Given the description of an element on the screen output the (x, y) to click on. 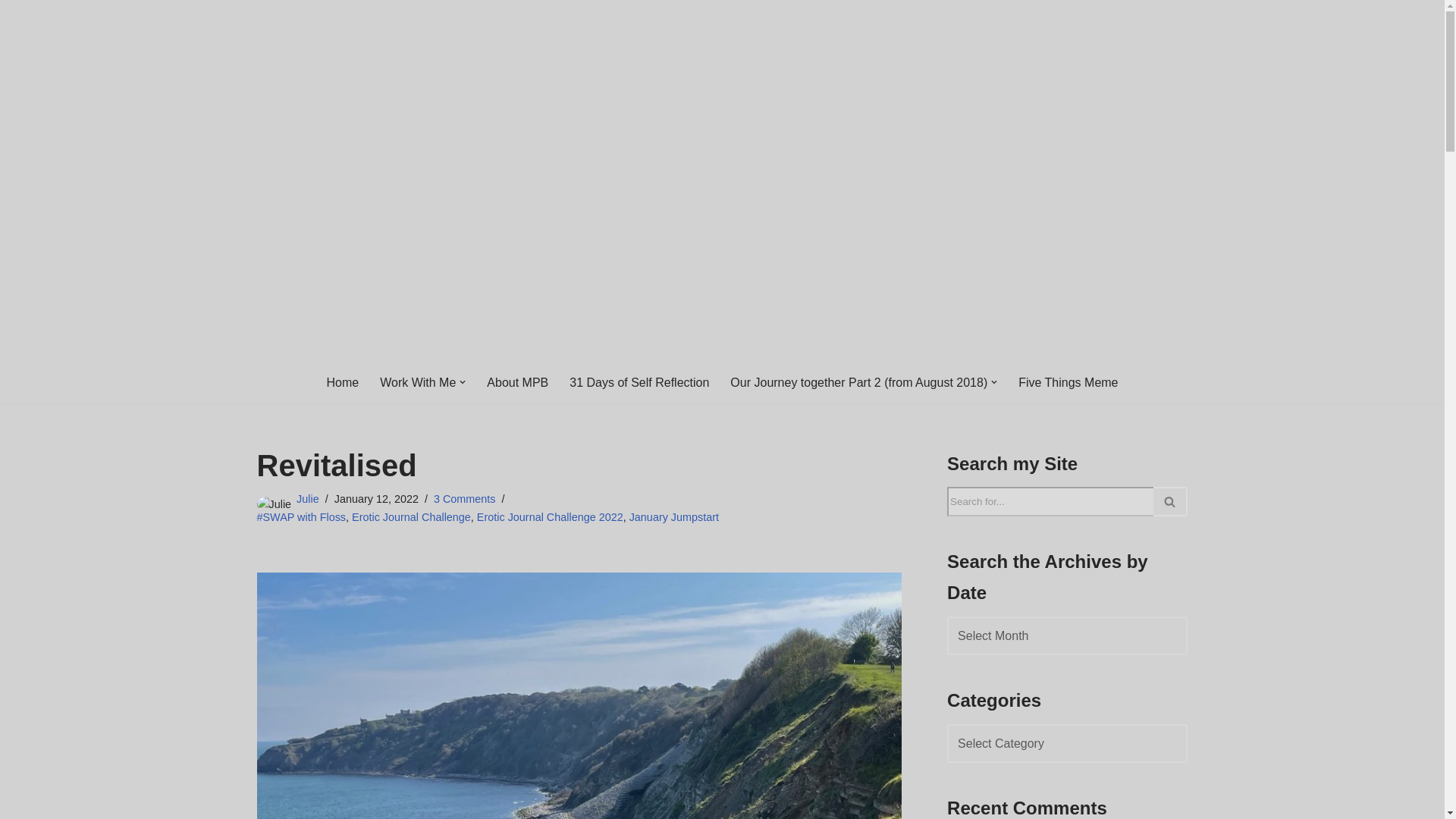
January Jumpstart (673, 517)
Julie (307, 499)
Erotic Journal Challenge (411, 517)
Posts by Julie (307, 499)
Erotic Journal Challenge 2022 (550, 517)
31 Days of Self Reflection (639, 382)
3 Comments (464, 499)
Five Things Meme (1067, 382)
Skip to content (11, 31)
About MPB (517, 382)
